Given the description of an element on the screen output the (x, y) to click on. 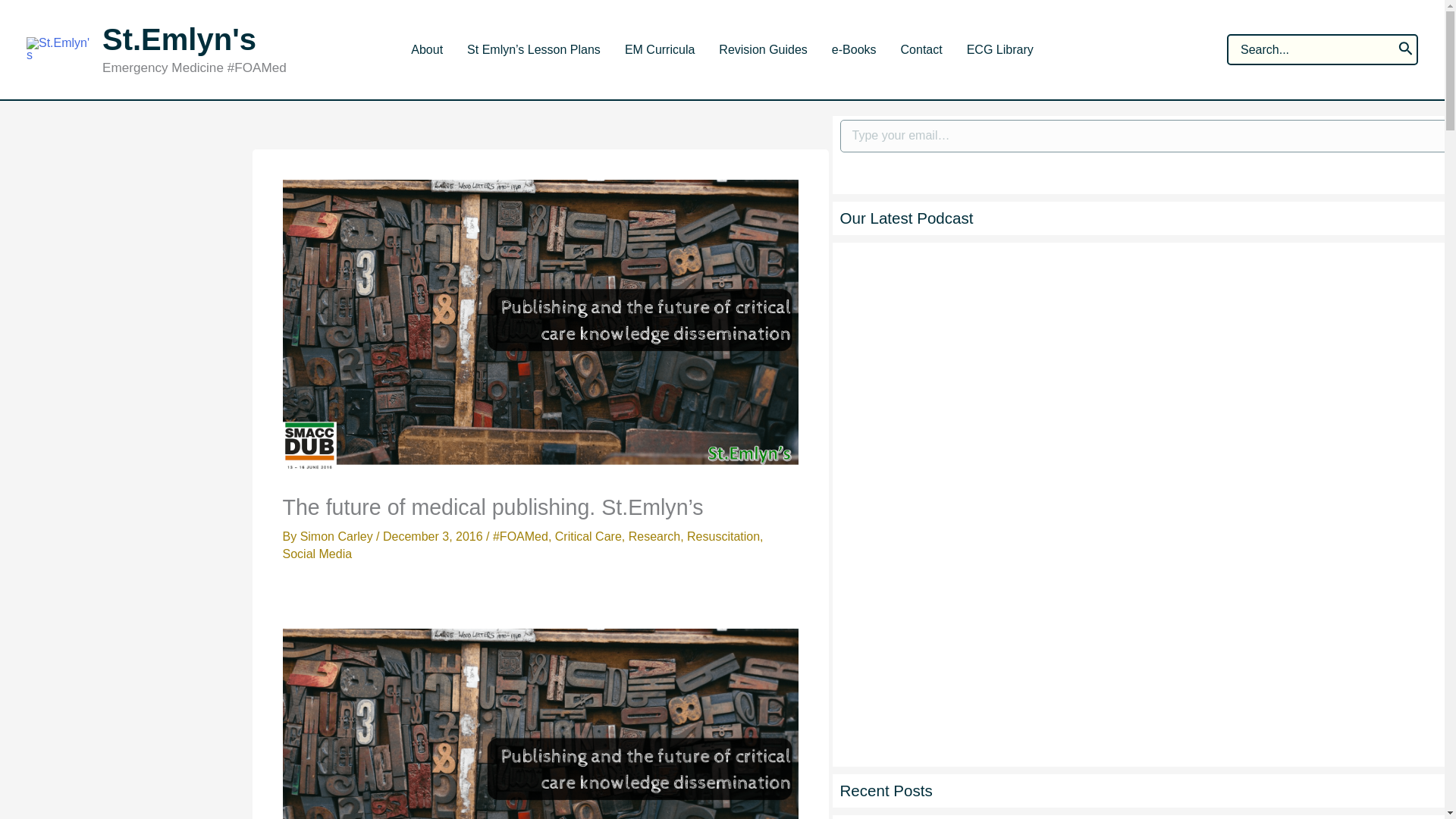
Revision Guides (762, 50)
St.Emlyn's (178, 39)
EM Curricula (659, 50)
View all posts by Simon Carley (337, 535)
About (426, 50)
